Given the description of an element on the screen output the (x, y) to click on. 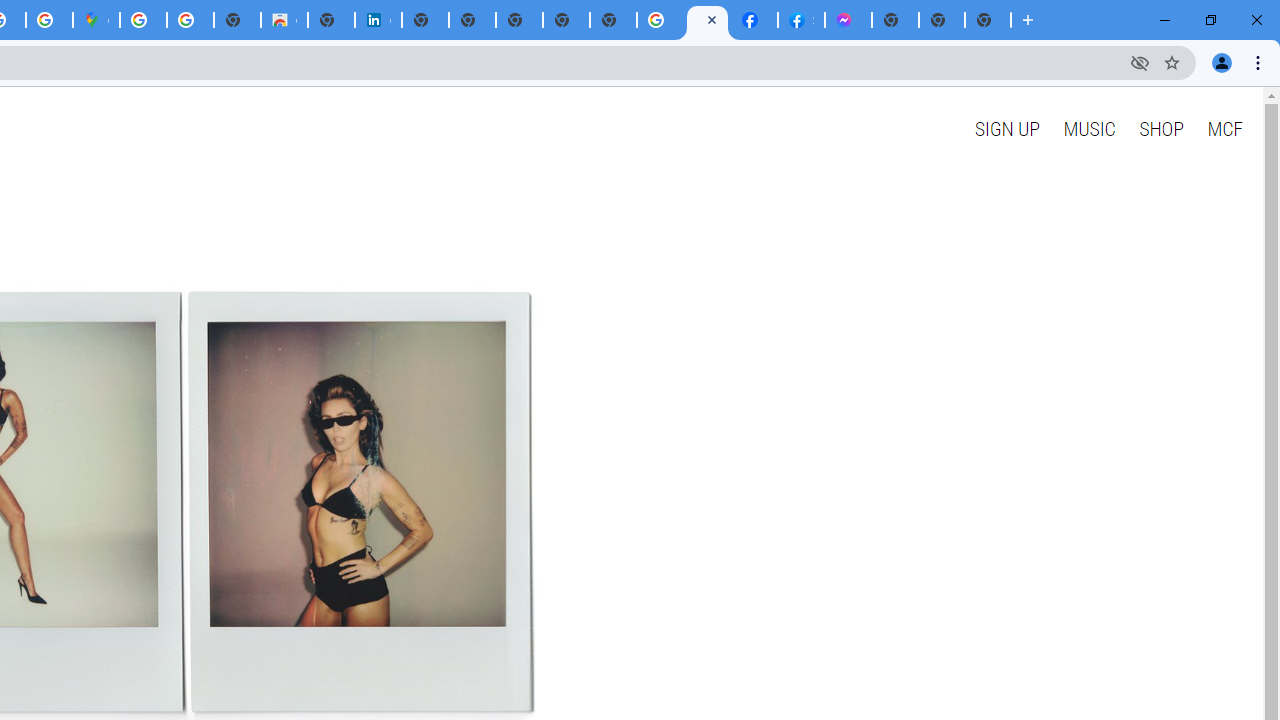
Messenger (848, 20)
Cookie Policy | LinkedIn (377, 20)
Sign Up for Facebook (801, 20)
Miley Cyrus | Facebook (754, 20)
SHOP (1161, 128)
MUSIC (1089, 128)
New Tab (988, 20)
